Given the description of an element on the screen output the (x, y) to click on. 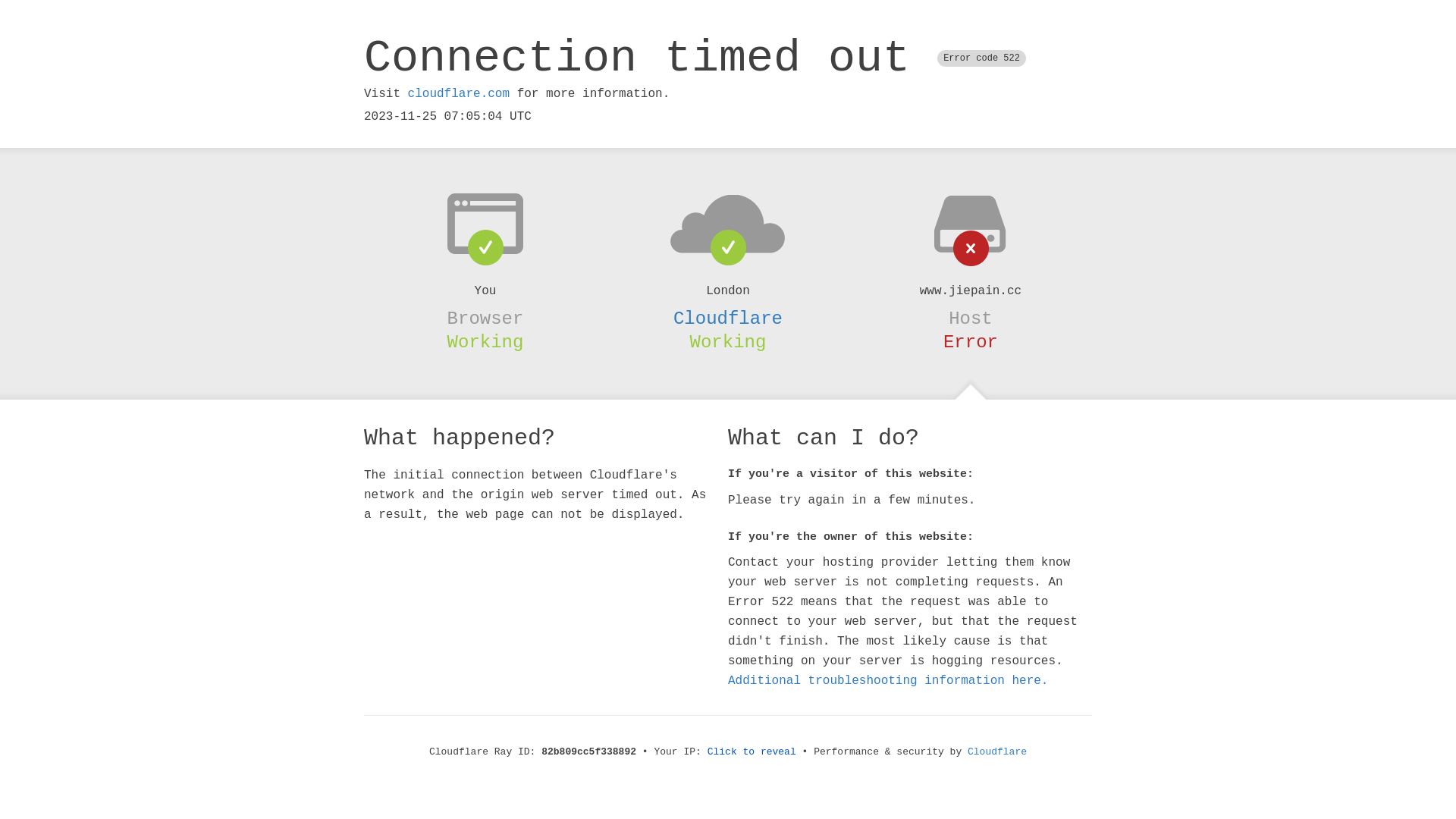
cloudflare.com Element type: text (458, 93)
Cloudflare Element type: text (727, 318)
Cloudflare Element type: text (996, 751)
Click to reveal Element type: text (751, 751)
Additional troubleshooting information here. Element type: text (888, 680)
